Given the description of an element on the screen output the (x, y) to click on. 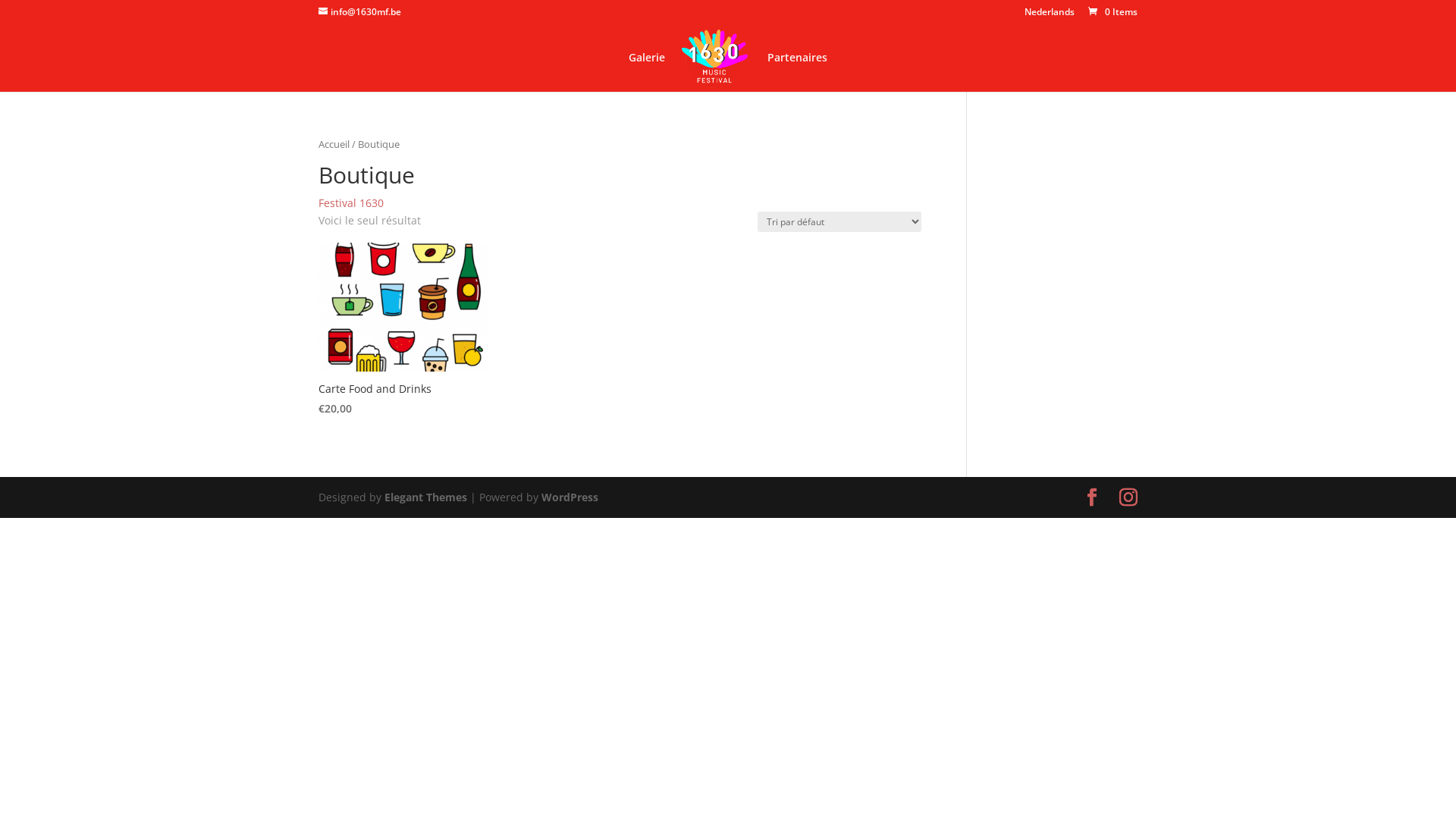
0 Items Element type: text (1111, 11)
Nederlands Element type: text (1049, 15)
Accueil Element type: text (333, 143)
Partenaires Element type: text (797, 71)
Galerie Element type: text (646, 71)
WordPress Element type: text (569, 496)
info@1630mf.be Element type: text (359, 11)
Festival 1630 Element type: text (350, 202)
Elegant Themes Element type: text (425, 496)
